Given the description of an element on the screen output the (x, y) to click on. 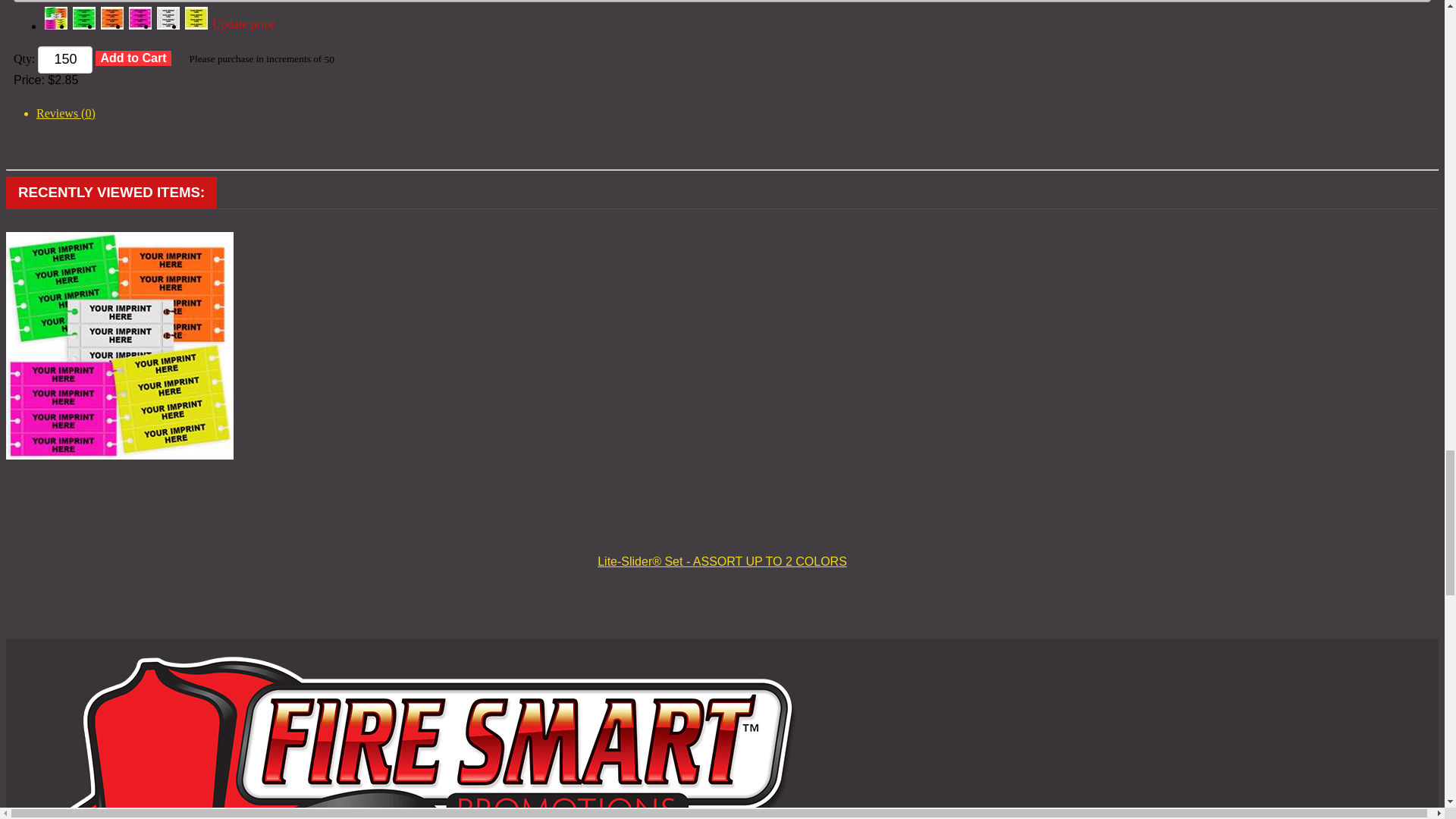
Add to Cart (133, 58)
150 (65, 59)
